Given the description of an element on the screen output the (x, y) to click on. 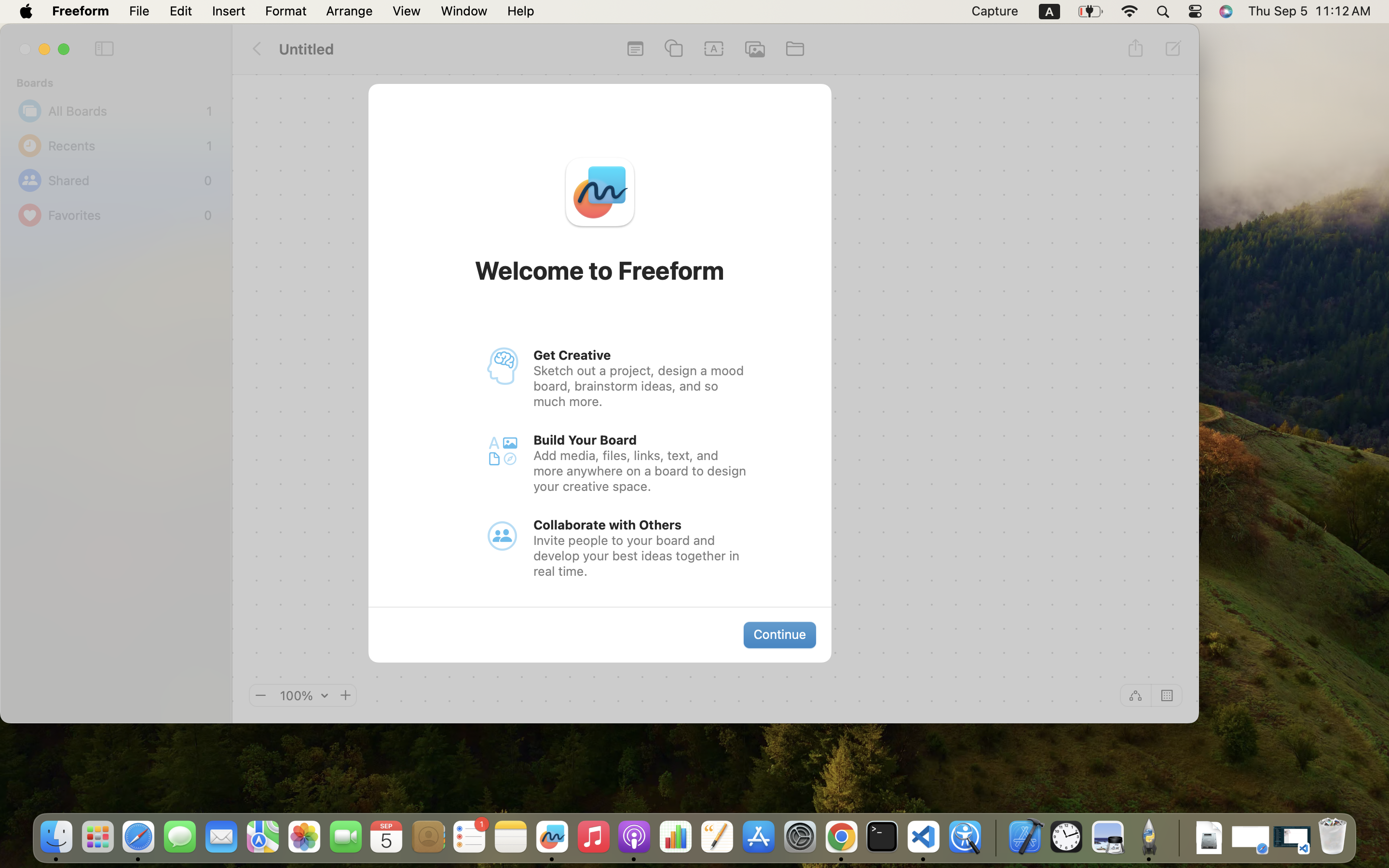
Build Your Board Element type: AXStaticText (584, 439)
Untitled Element type: AXStaticText (306, 48)
Shared Element type: AXStaticText (123, 180)
Collaborate with Others Element type: AXStaticText (607, 524)
All Boards Element type: AXStaticText (124, 110)
